Given the description of an element on the screen output the (x, y) to click on. 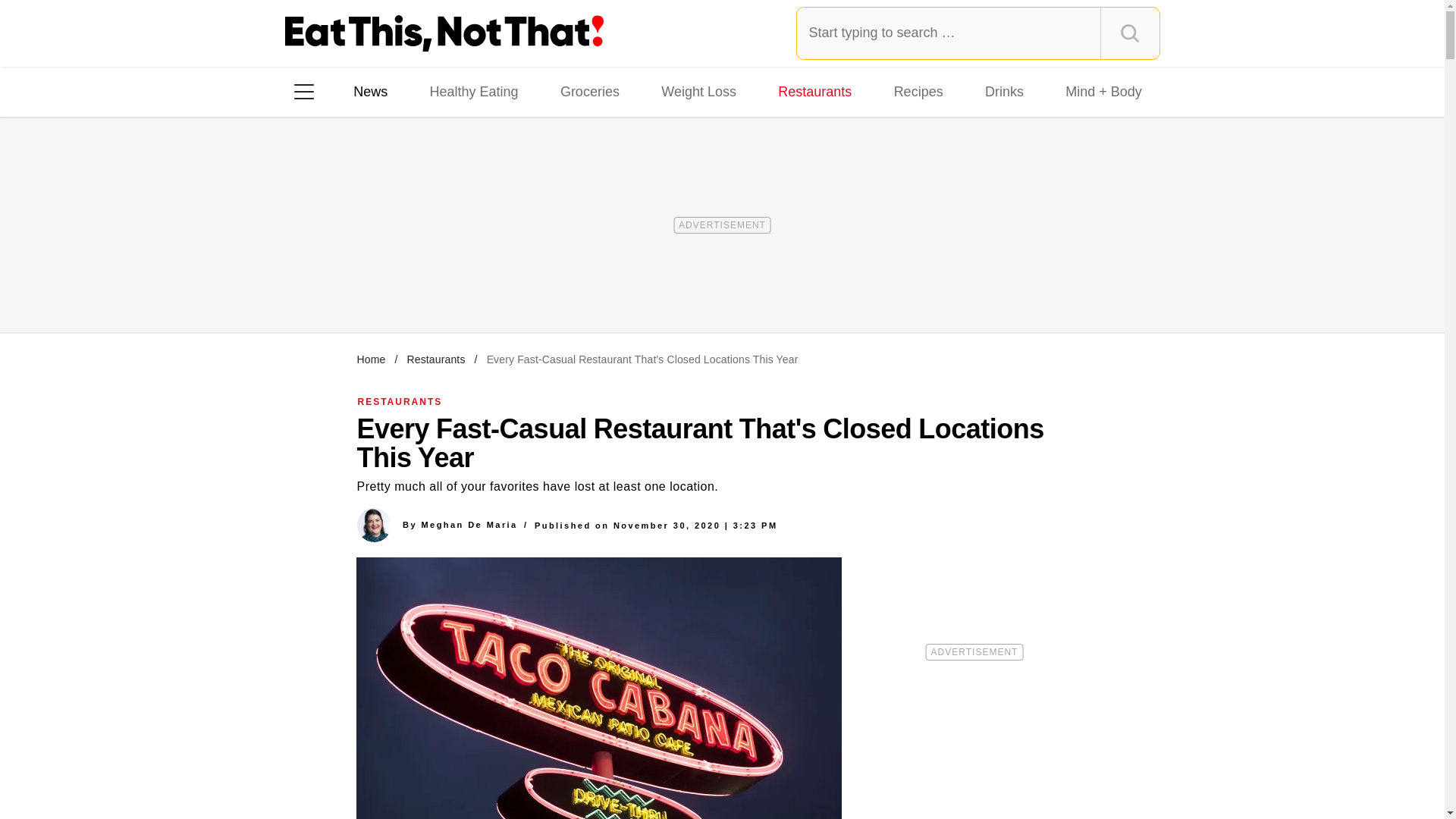
Drinks (1003, 91)
Instagram (357, 287)
Facebook (314, 287)
Pinterest (443, 287)
News (370, 91)
Groceries (590, 91)
Meghan De Maria (468, 524)
Recipes (918, 91)
Home (370, 358)
TikTok (399, 287)
Type and press Enter to search (978, 32)
Instagram (357, 287)
Pinterest (443, 287)
Restaurants (435, 358)
RESTAURANTS (400, 401)
